Given the description of an element on the screen output the (x, y) to click on. 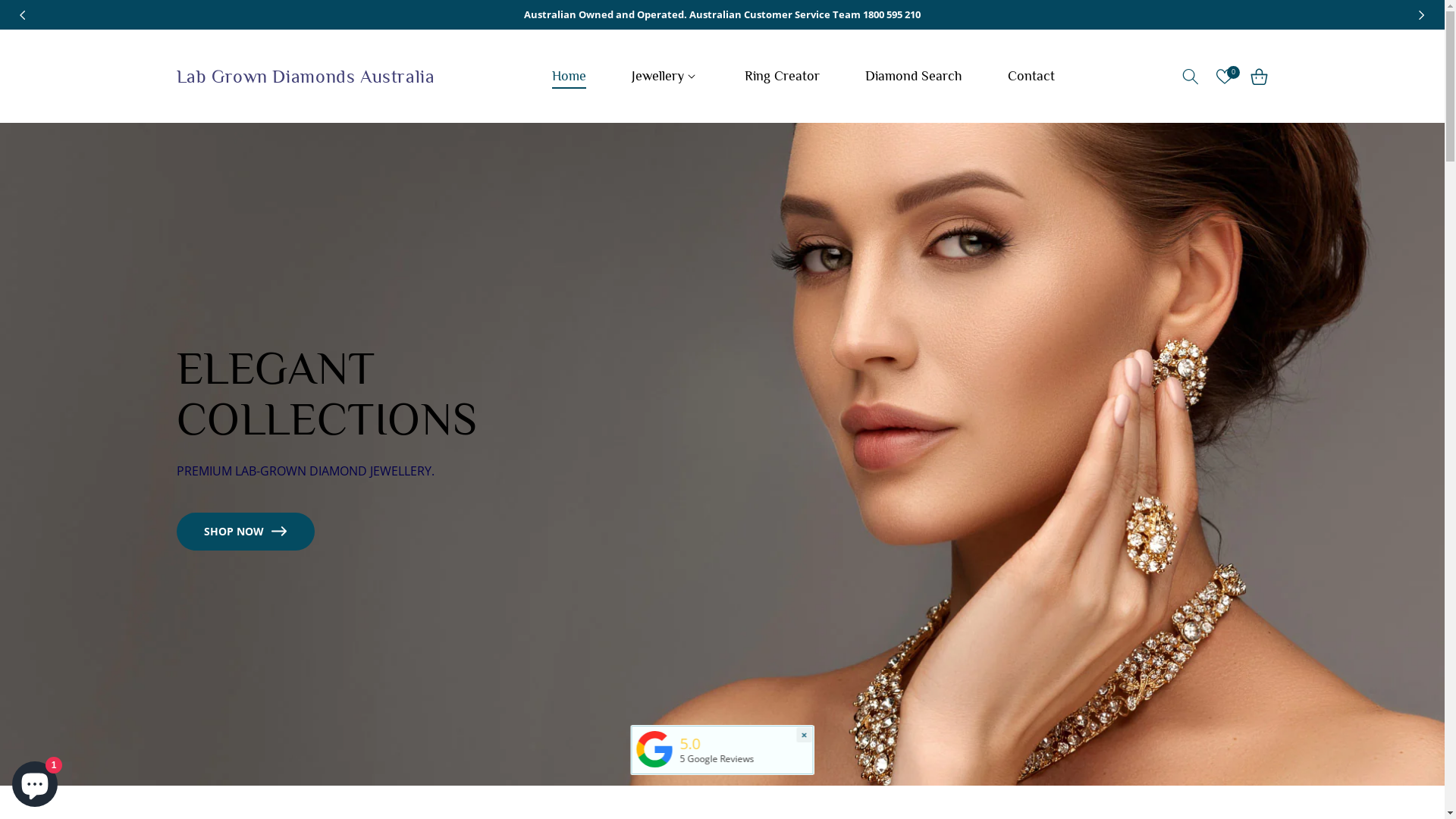
Contact Element type: text (1031, 75)
Home Element type: text (568, 75)
Ring Creator Element type: text (781, 75)
Diamond Search Element type: text (913, 75)
SHOP NOW Element type: text (244, 531)
Lab Grown Diamonds Australia Element type: text (304, 76)
Lab Grown Diamonds Element type: hover (654, 747)
Shopify online store chat Element type: hover (34, 780)
0 Element type: text (1223, 76)
5 Google Reviews Element type: text (716, 757)
Cart Element type: text (1258, 76)
